Given the description of an element on the screen output the (x, y) to click on. 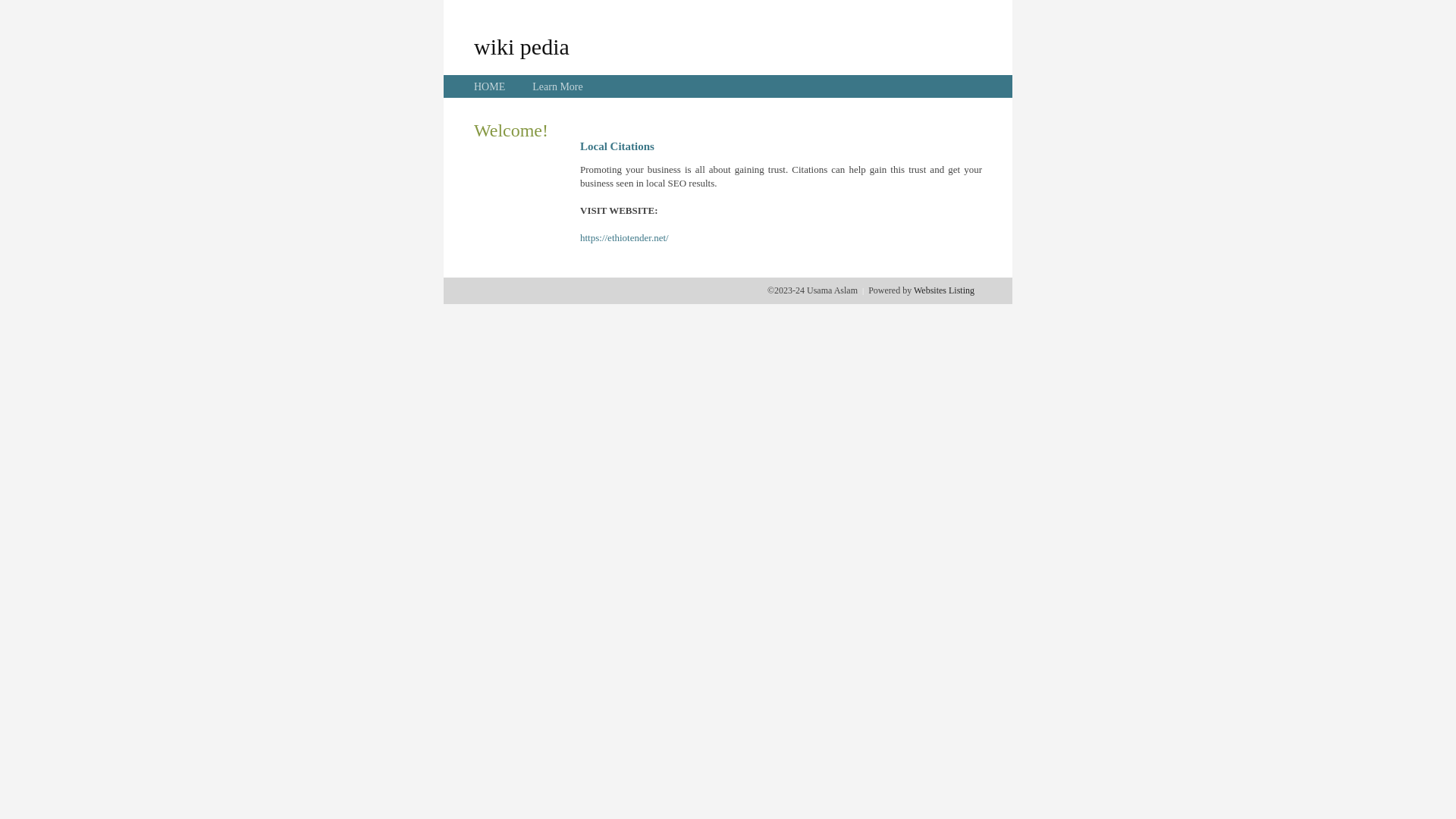
HOME Element type: text (489, 86)
Learn More Element type: text (557, 86)
https://ethiotender.net/ Element type: text (624, 237)
wiki pedia Element type: text (521, 46)
Websites Listing Element type: text (943, 290)
